Given the description of an element on the screen output the (x, y) to click on. 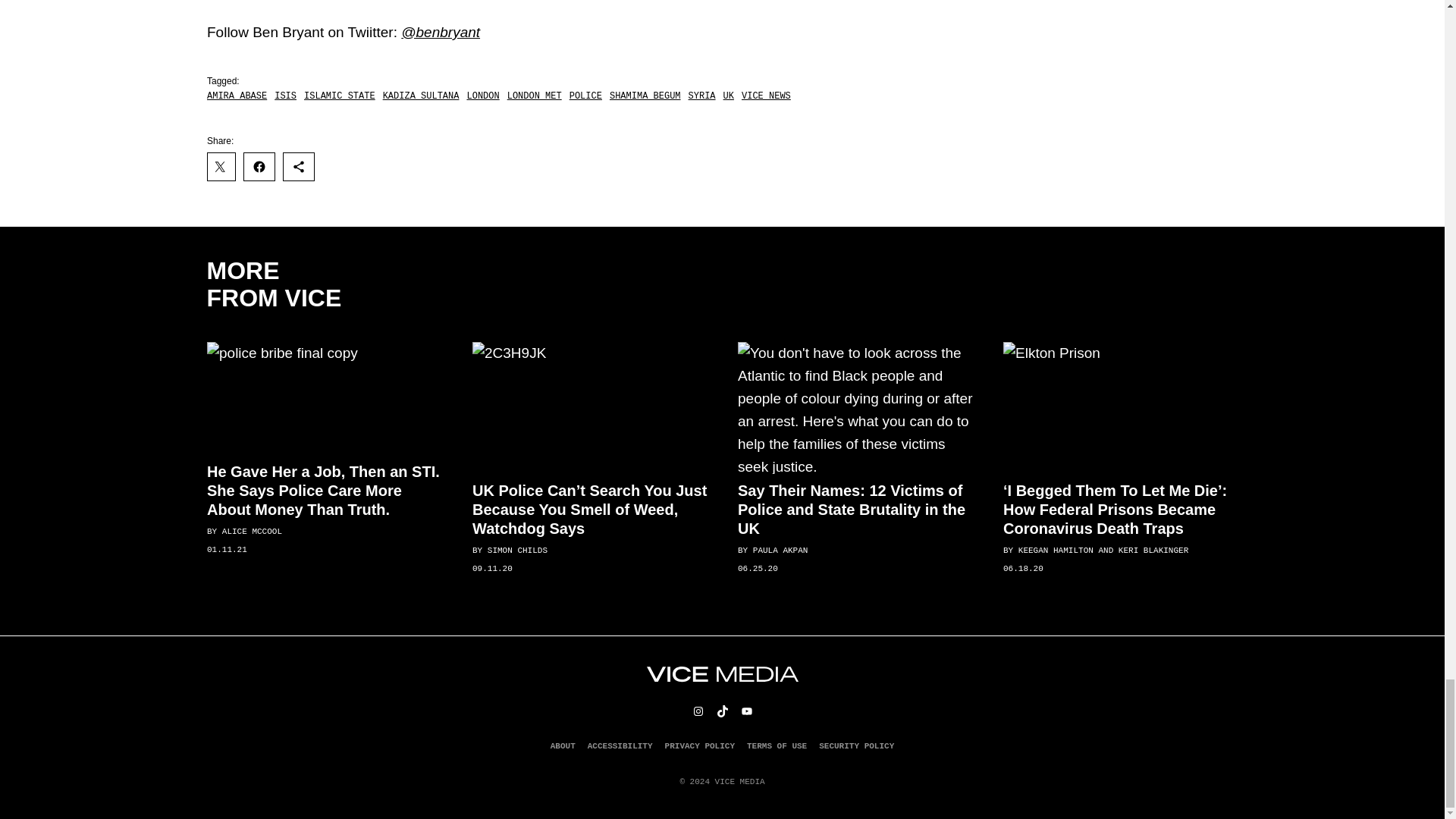
Posts by Simon Childs (516, 550)
Posts by Keegan Hamilton (1055, 550)
Posts by Keri Blakinger (1153, 550)
Posts by Paula Akpan (780, 550)
Posts by Alice McCool (251, 531)
